Given the description of an element on the screen output the (x, y) to click on. 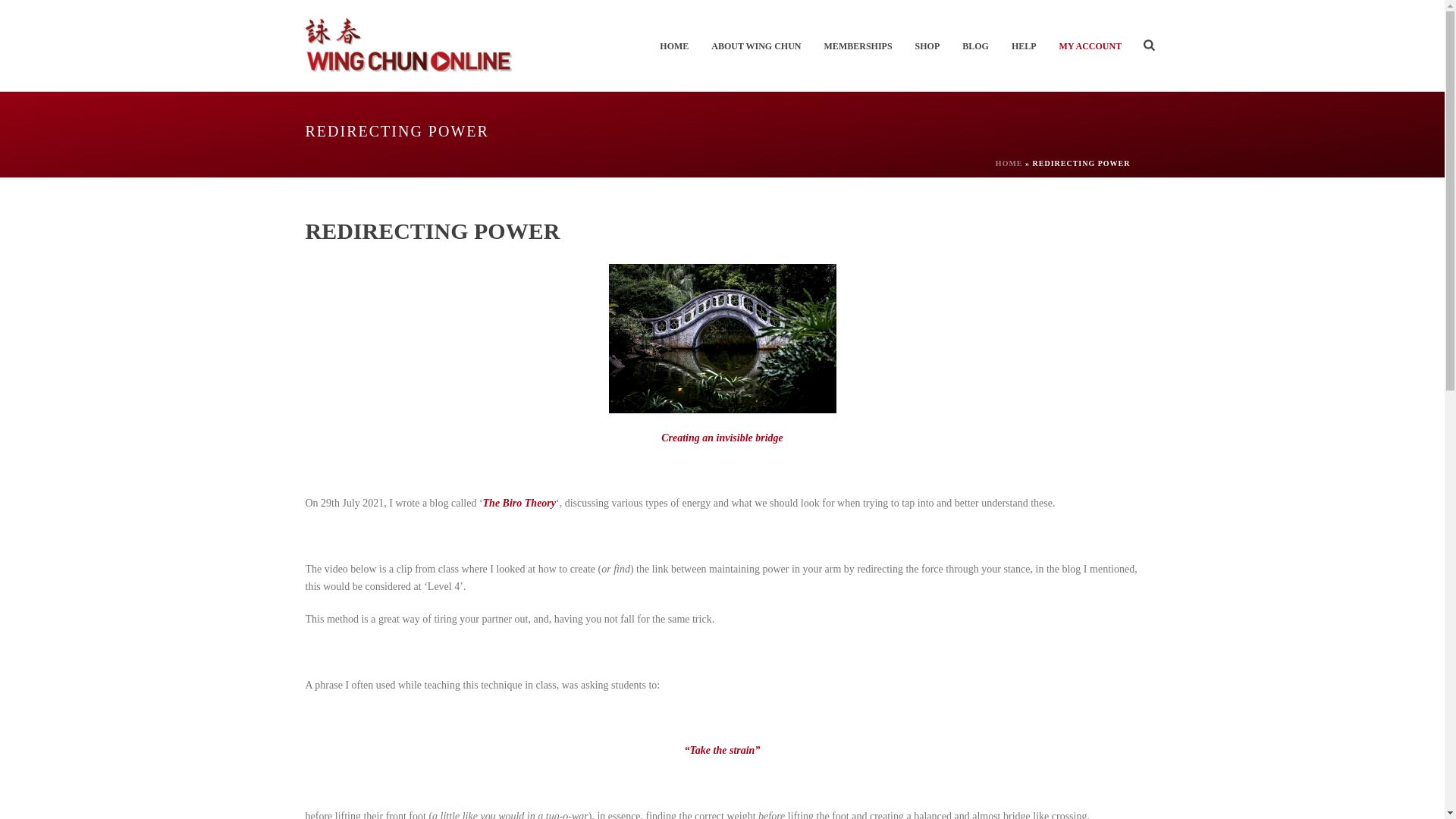
HOME (673, 45)
SHOP (928, 45)
MY ACCOUNT (1091, 45)
BLOG (975, 45)
The home of Wingchun on the Internet (409, 45)
MY ACCOUNT (1091, 45)
HOME (1009, 162)
MEMBERSHIPS (858, 45)
BLOG (975, 45)
MEMBERSHIPS (858, 45)
HELP (1024, 45)
HELP (1024, 45)
SHOP (928, 45)
ABOUT WING CHUN (756, 45)
HOME (673, 45)
